Given the description of an element on the screen output the (x, y) to click on. 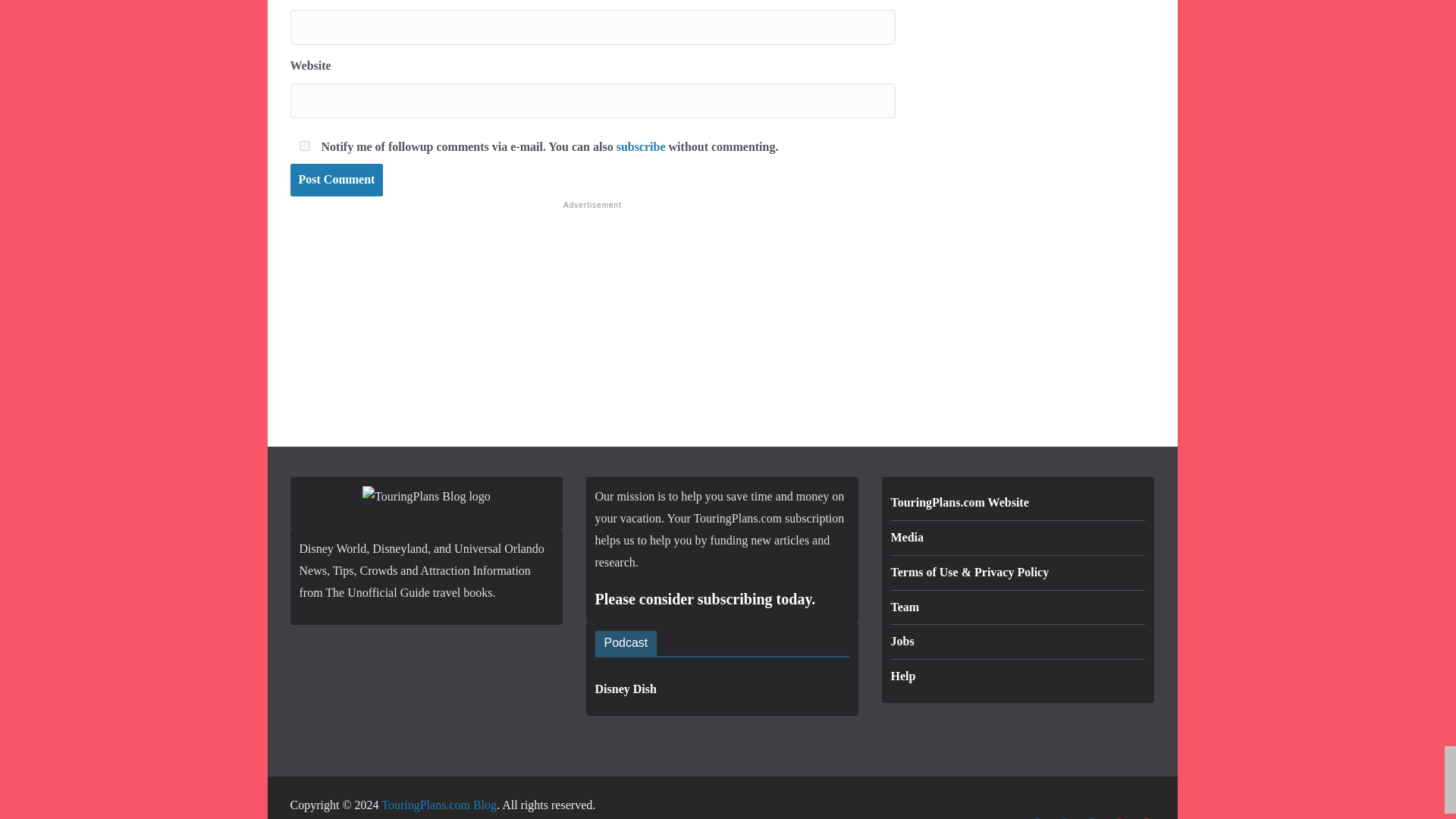
TouringPlans.com Blog (438, 804)
yes (303, 145)
Post Comment (335, 179)
